Given the description of an element on the screen output the (x, y) to click on. 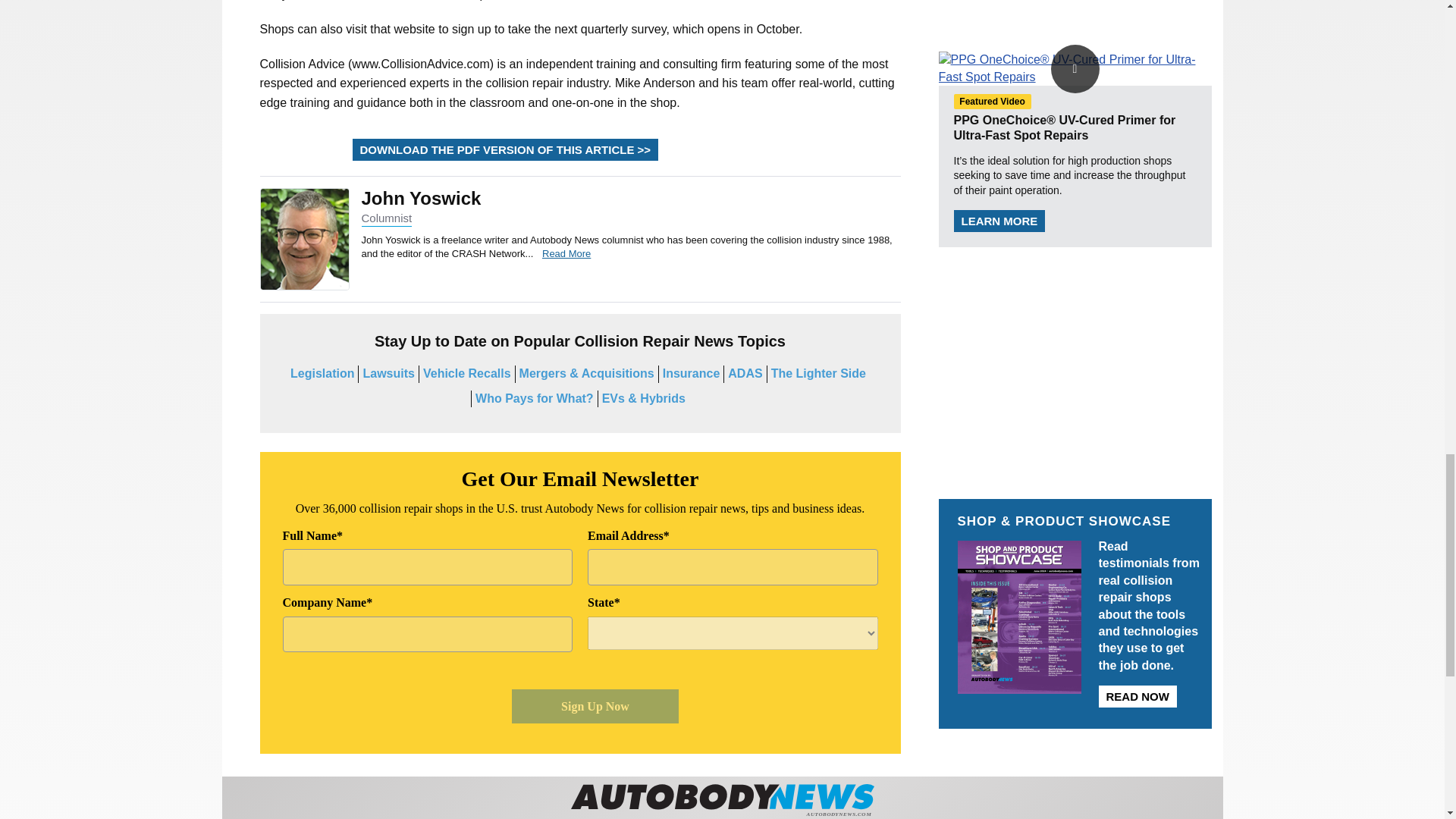
Vehicle Recalls (467, 373)
Who Pays for What? (535, 398)
3rd party ad content (1074, 364)
The Lighter Side (818, 373)
Watch Now (1075, 68)
Lawsuits (387, 373)
Legislation (321, 373)
Insurance (691, 373)
3rd party ad content (1074, 6)
ADAS (744, 373)
